Given the description of an element on the screen output the (x, y) to click on. 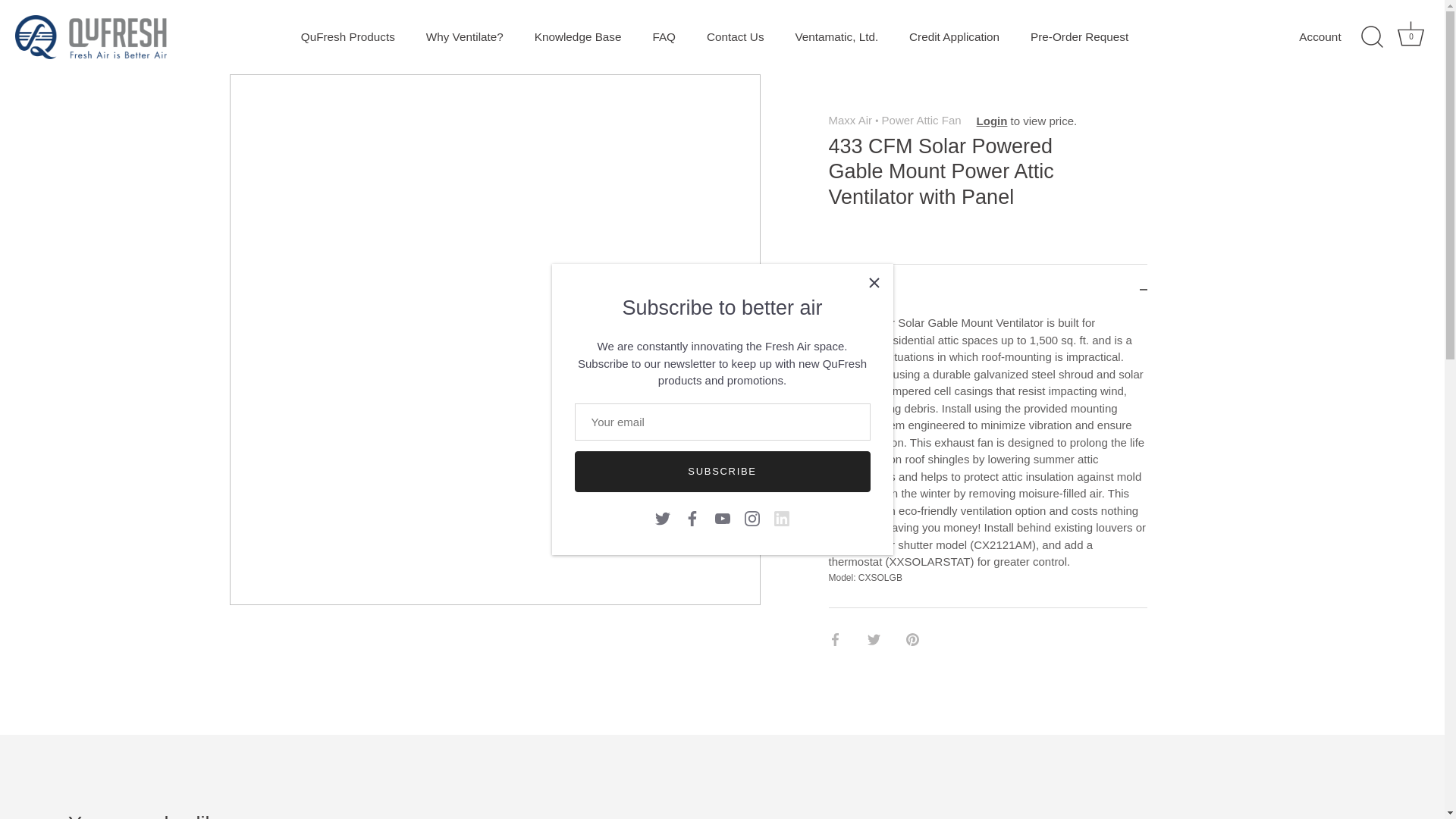
Credit Application (954, 36)
FAQ (663, 36)
Account (1332, 36)
Instagram (752, 518)
Twitter (662, 518)
Ventamatic, Ltd. (835, 36)
Why Ventilate? (464, 36)
Cart (1410, 33)
Maxx Air (850, 119)
Pre-Order Request (1079, 36)
QuFresh Products (347, 36)
Knowledge Base (1411, 37)
Youtube (576, 36)
Contact Us (721, 518)
